Given the description of an element on the screen output the (x, y) to click on. 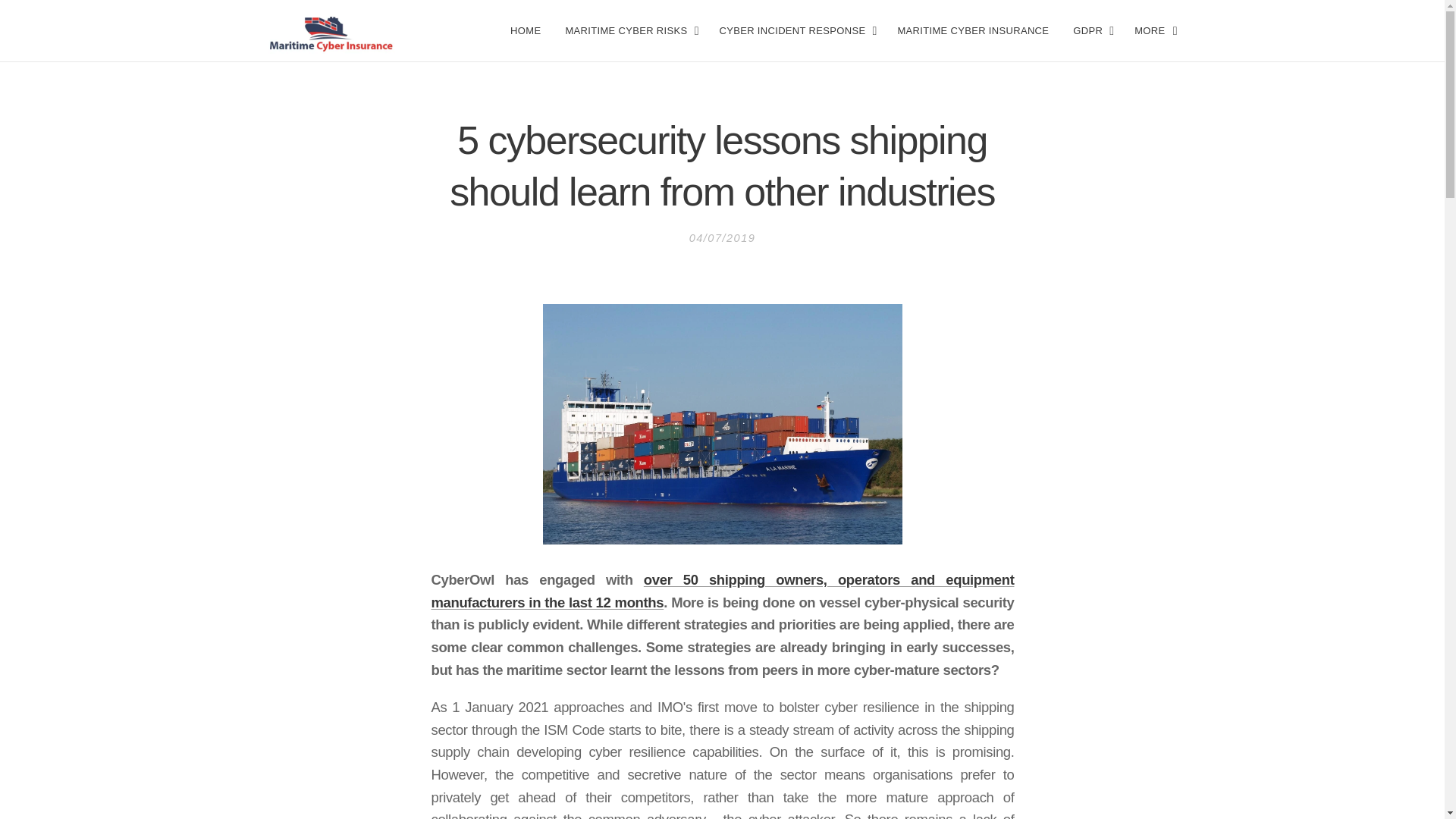
GDPR (1091, 30)
CYBER INCIDENT RESPONSE (795, 30)
MARITIME CYBER RISKS (629, 30)
MORE (1149, 30)
HOME (529, 30)
MARITIME CYBER INSURANCE (973, 30)
